Given the description of an element on the screen output the (x, y) to click on. 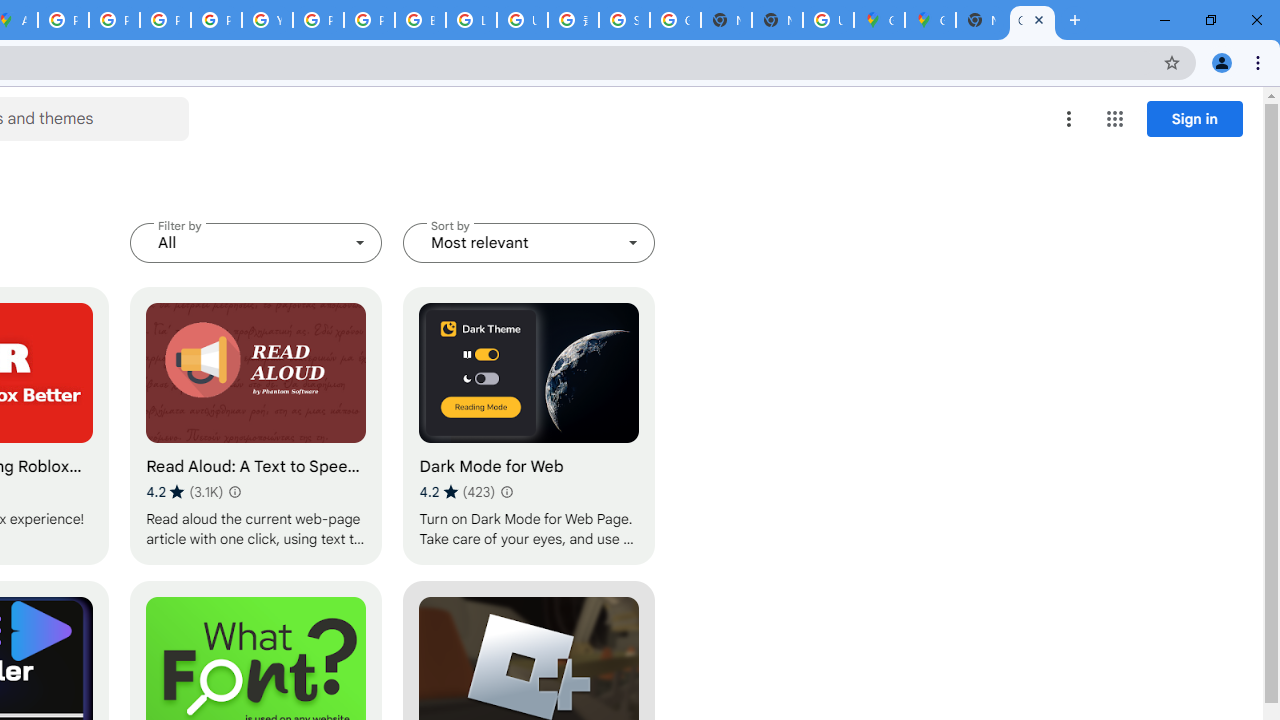
Average rating 4.2 out of 5 stars. 3.1K ratings. (184, 491)
Google Maps (878, 20)
Filter by All (256, 242)
Average rating 4.2 out of 5 stars. 423 ratings. (457, 491)
New Tab (981, 20)
Read Aloud: A Text to Speech Voice Reader (256, 426)
Policy Accountability and Transparency - Transparency Center (63, 20)
New Tab (776, 20)
Dark Mode for Web (529, 426)
